Given the description of an element on the screen output the (x, y) to click on. 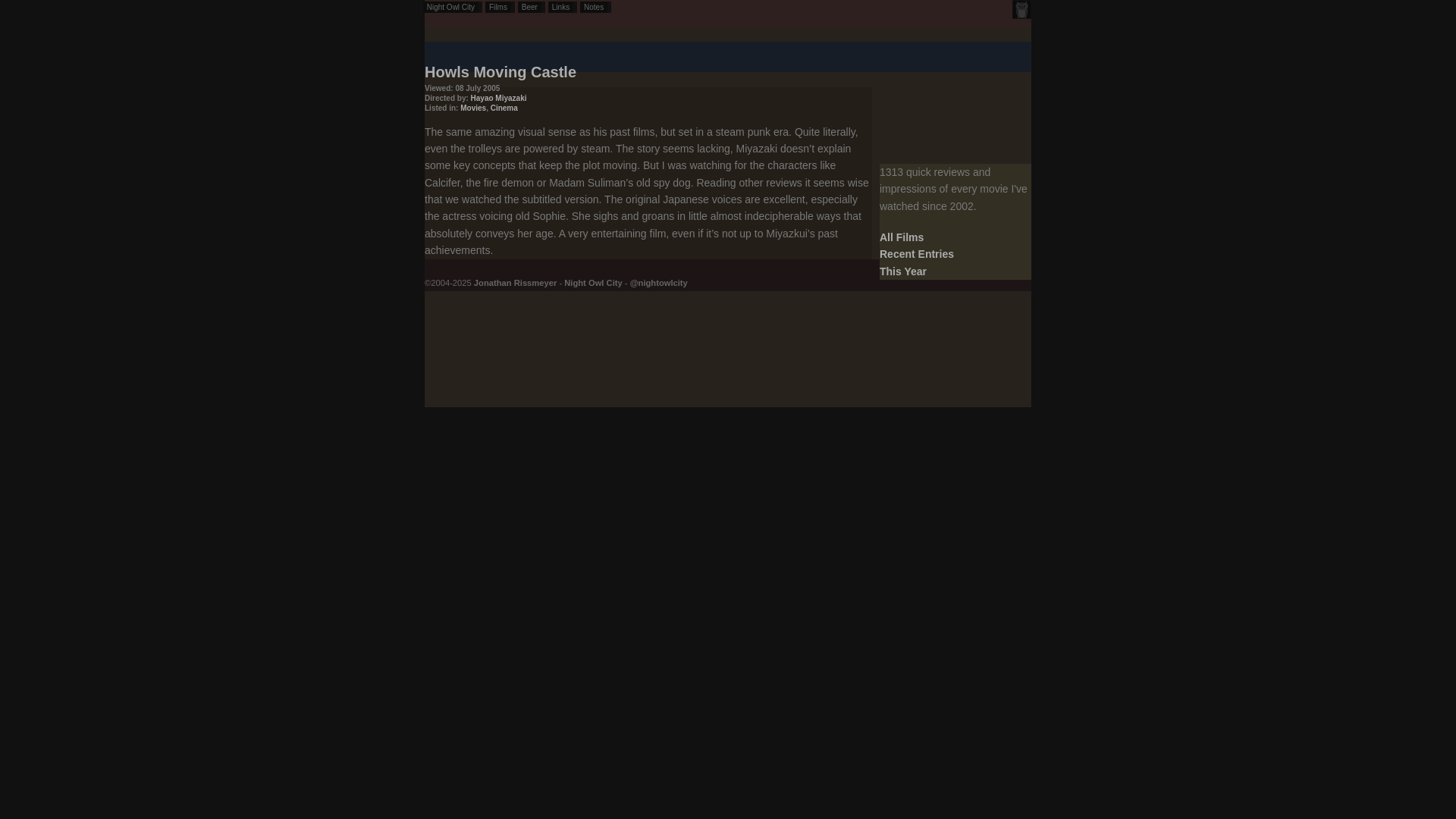
All Films (901, 236)
Cinema (504, 108)
Night Owl (1020, 9)
Movies (473, 108)
Howls Moving Castle (500, 71)
This Year (902, 271)
Films (499, 7)
Recent Entries (916, 254)
Beer (531, 7)
Notes (595, 7)
